Given the description of an element on the screen output the (x, y) to click on. 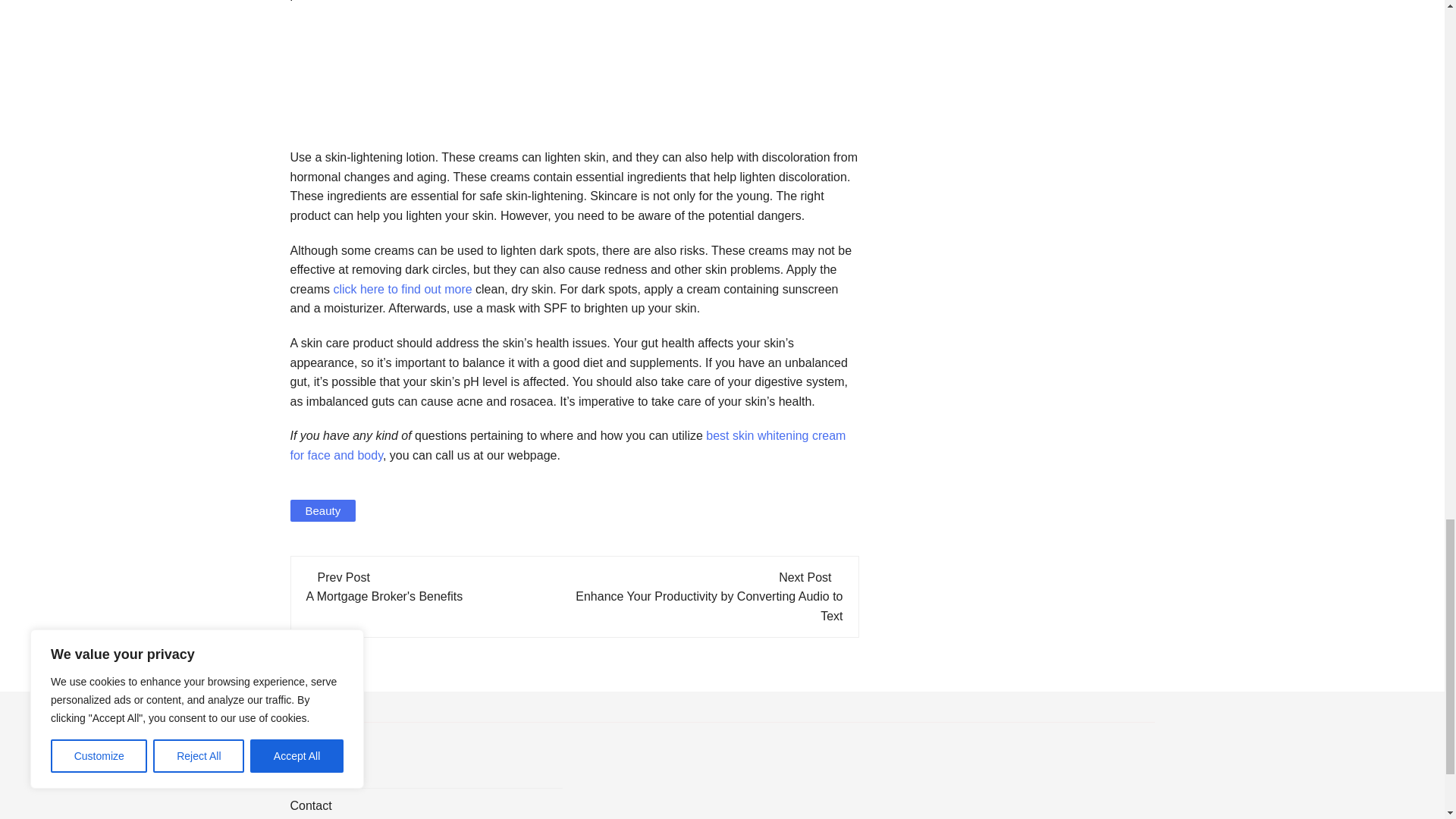
Enhance Your Productivity by Converting Audio to Text (709, 605)
A Mortgage Broker's Benefits (384, 595)
Beauty (322, 510)
click here to find out more (402, 288)
best skin whitening cream for face and body (567, 445)
